Given the description of an element on the screen output the (x, y) to click on. 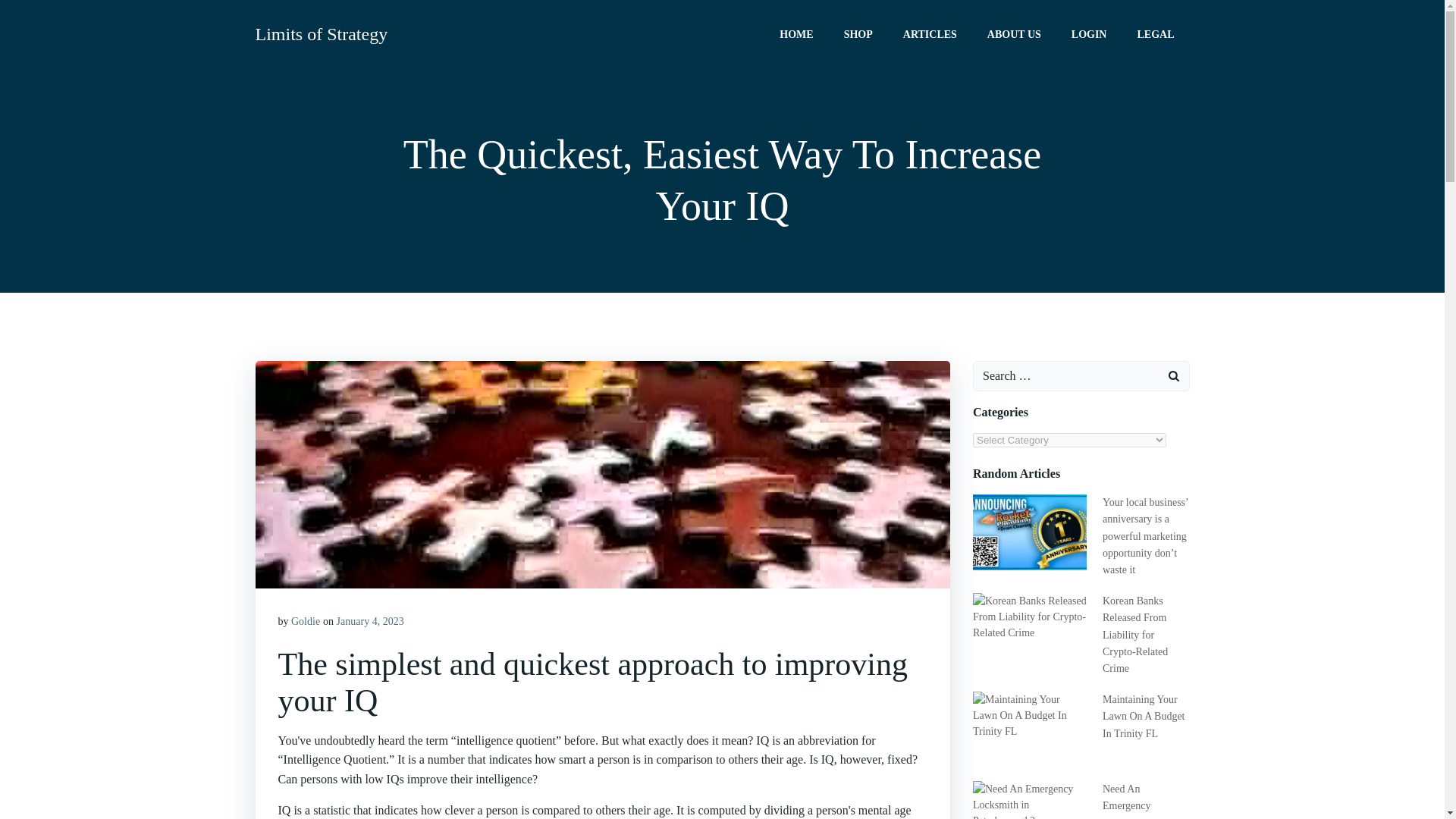
HOME (795, 33)
LOGIN (1088, 33)
Goldie (305, 621)
SHOP (858, 33)
LEGAL (1155, 33)
ARTICLES (929, 33)
Limits of Strategy (320, 33)
ABOUT US (1014, 33)
January 4, 2023 (370, 621)
